Given the description of an element on the screen output the (x, y) to click on. 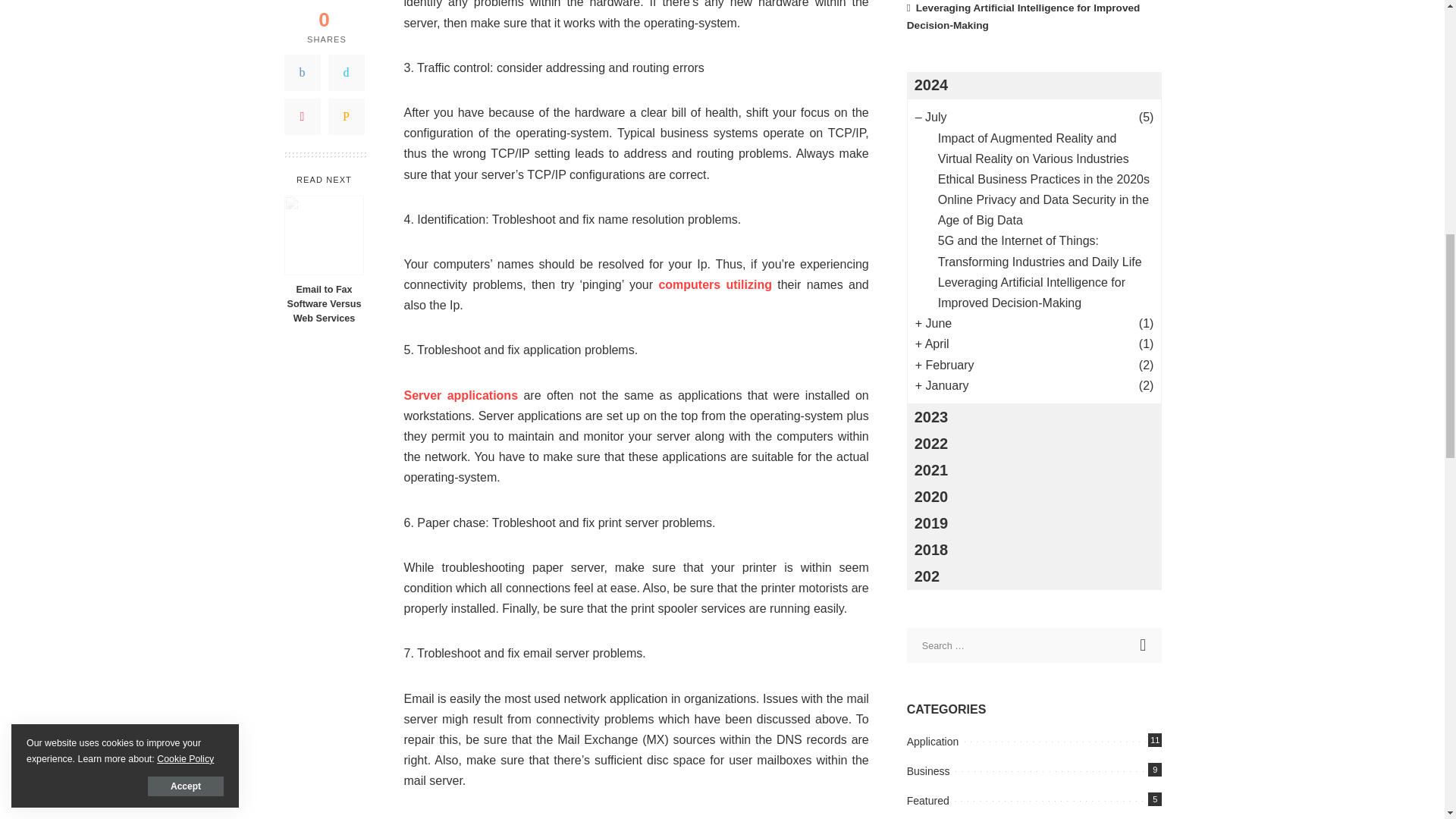
Search (1143, 645)
Search (1143, 645)
